Given the description of an element on the screen output the (x, y) to click on. 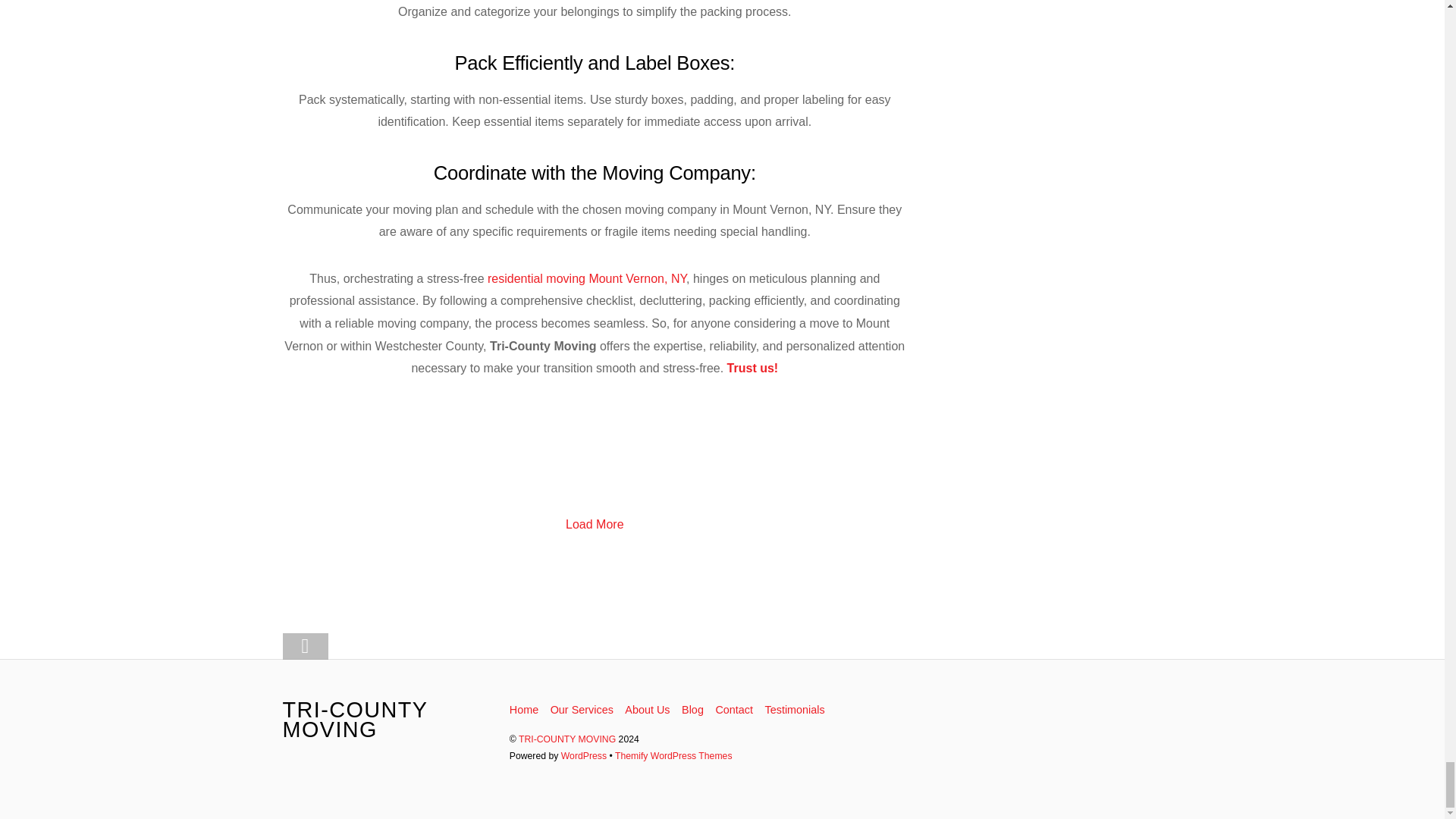
TRI-COUNTY MOVING   (354, 719)
